Given the description of an element on the screen output the (x, y) to click on. 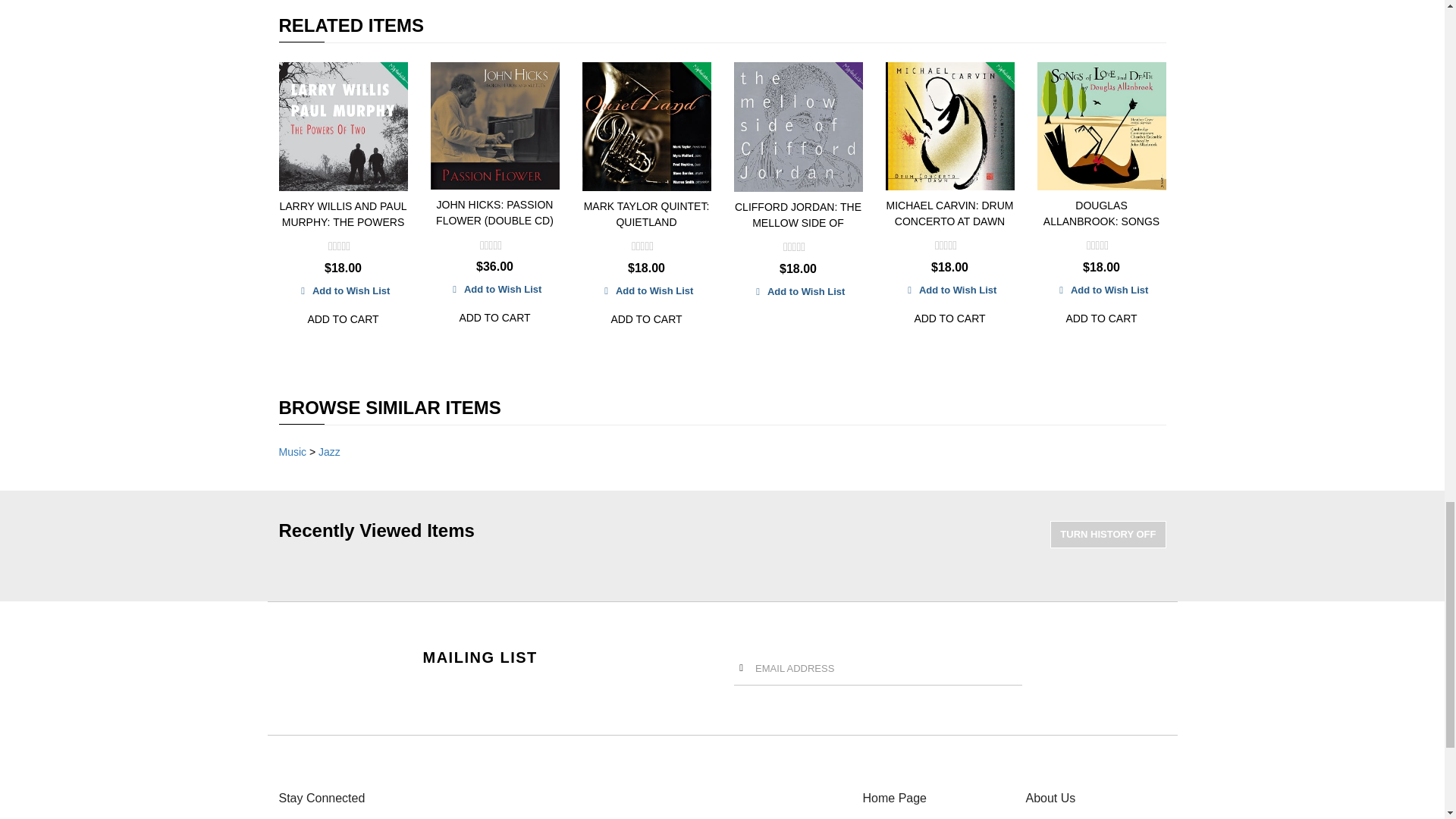
Follow Us on Twitter (317, 816)
Follow Us on Instagram (411, 816)
Like Us on Facebook (287, 816)
Follow Us on Pinterest (379, 816)
Subscribe to our Channel (348, 816)
